Given the description of an element on the screen output the (x, y) to click on. 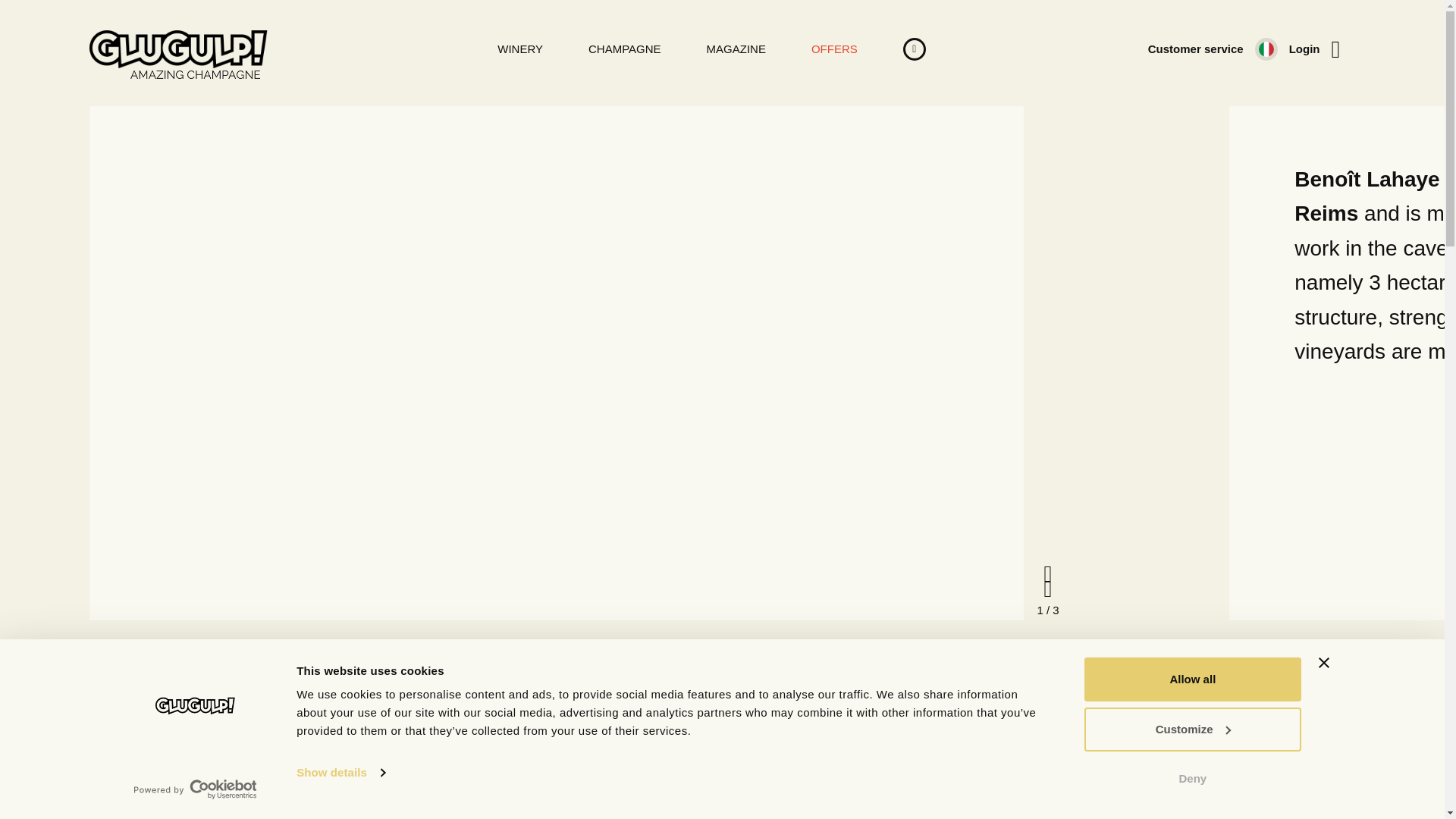
Italiano (1266, 48)
Deny (1191, 778)
Show details (340, 772)
GLUGULP! (177, 48)
